Given the description of an element on the screen output the (x, y) to click on. 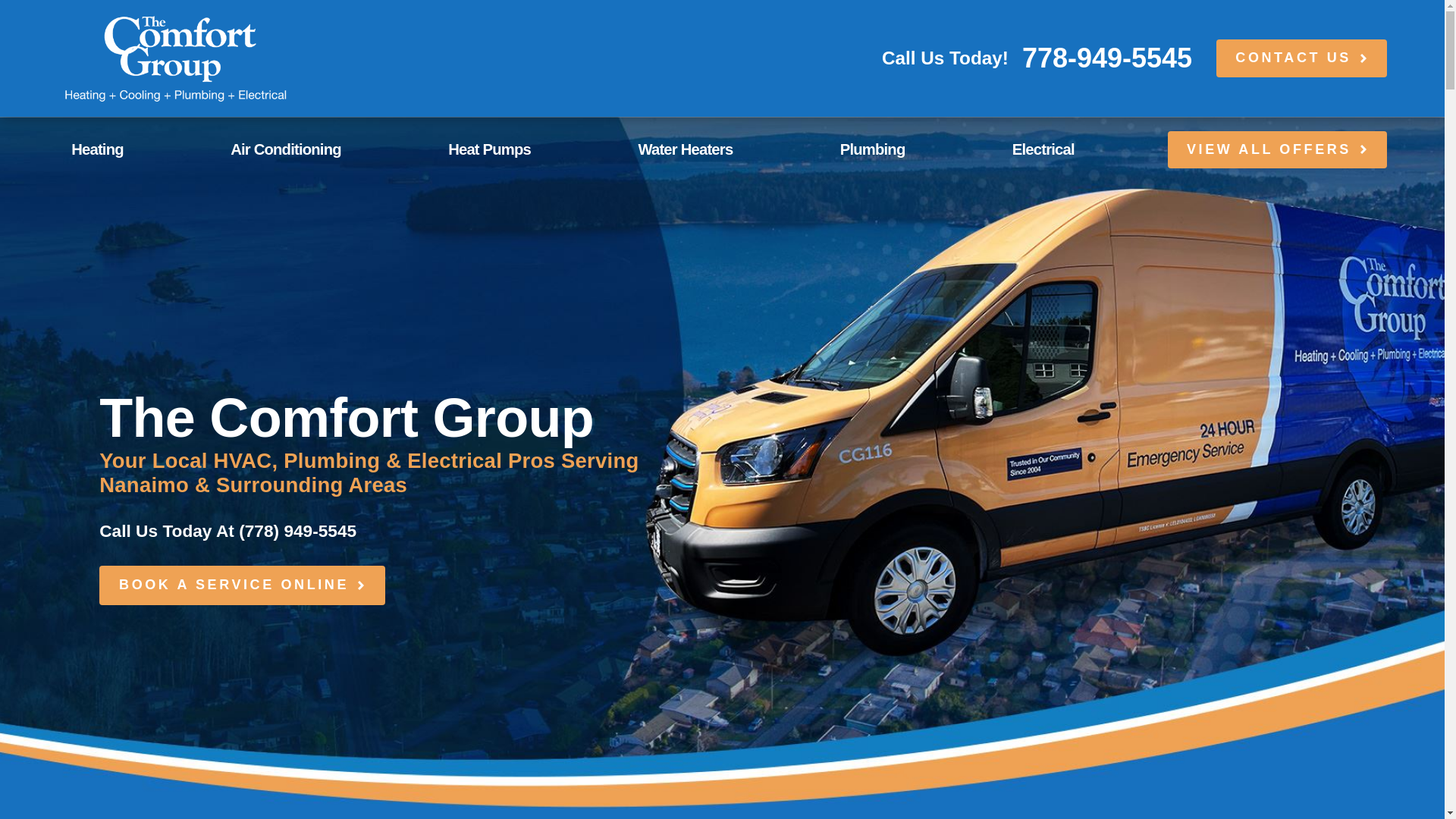
Water Heaters (712, 149)
Heat Pumps (517, 149)
CONTACT US (1300, 57)
Electrical (1070, 149)
Heating (125, 149)
Home (175, 58)
Plumbing (900, 149)
Air Conditioning (313, 149)
778-949-5545 (1107, 58)
